Given the description of an element on the screen output the (x, y) to click on. 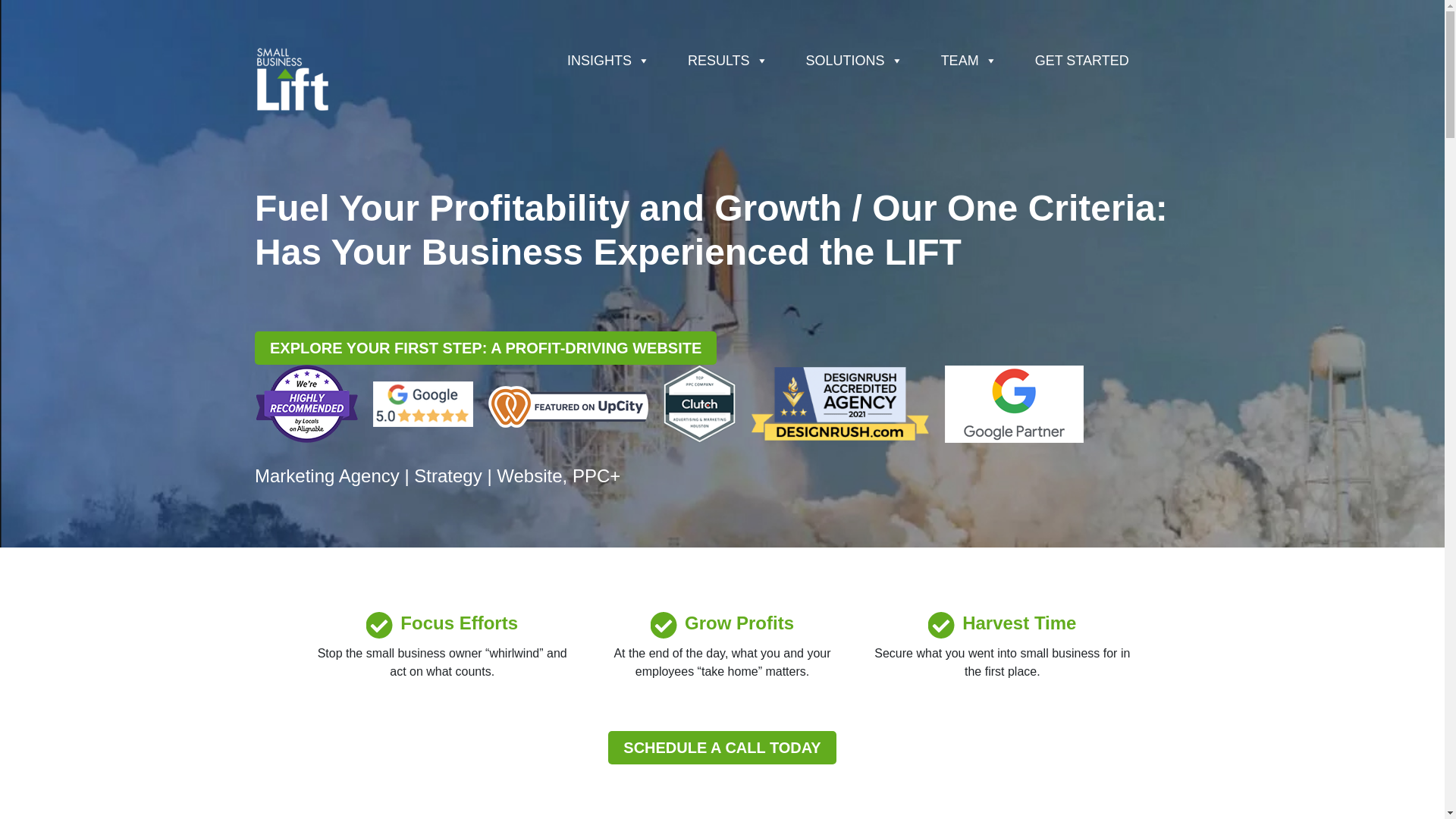
Small Business Lift (292, 77)
EXPLORE YOUR FIRST STEP: A PROFIT-DRIVING WEBSITE (485, 347)
SOLUTIONS (854, 60)
GET STARTED (1082, 60)
INSIGHTS (608, 60)
SCHEDULE A CALL TODAY (721, 747)
RESULTS (727, 60)
TEAM (968, 60)
